Given the description of an element on the screen output the (x, y) to click on. 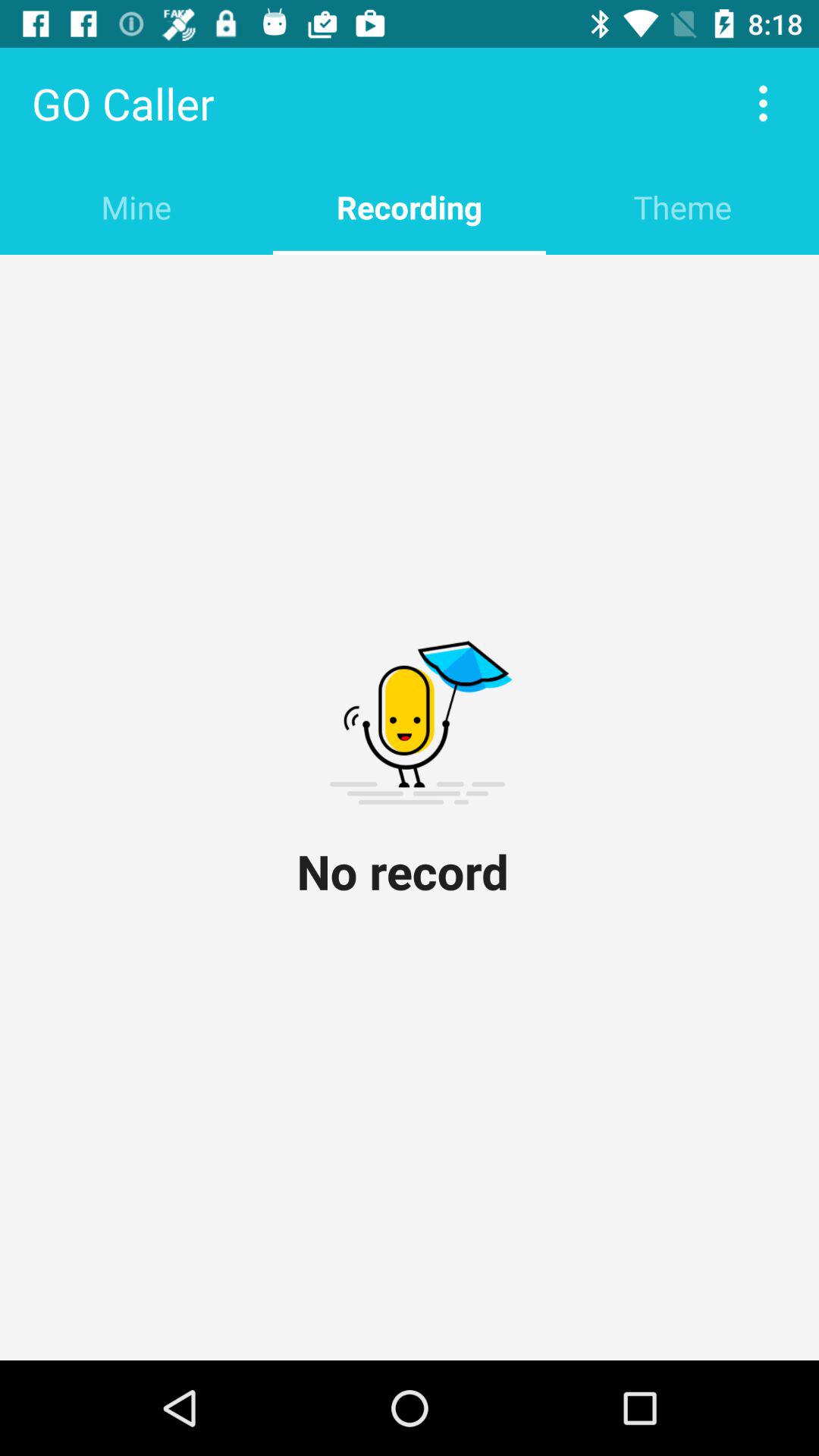
open icon to the right of the recording (682, 206)
